Given the description of an element on the screen output the (x, y) to click on. 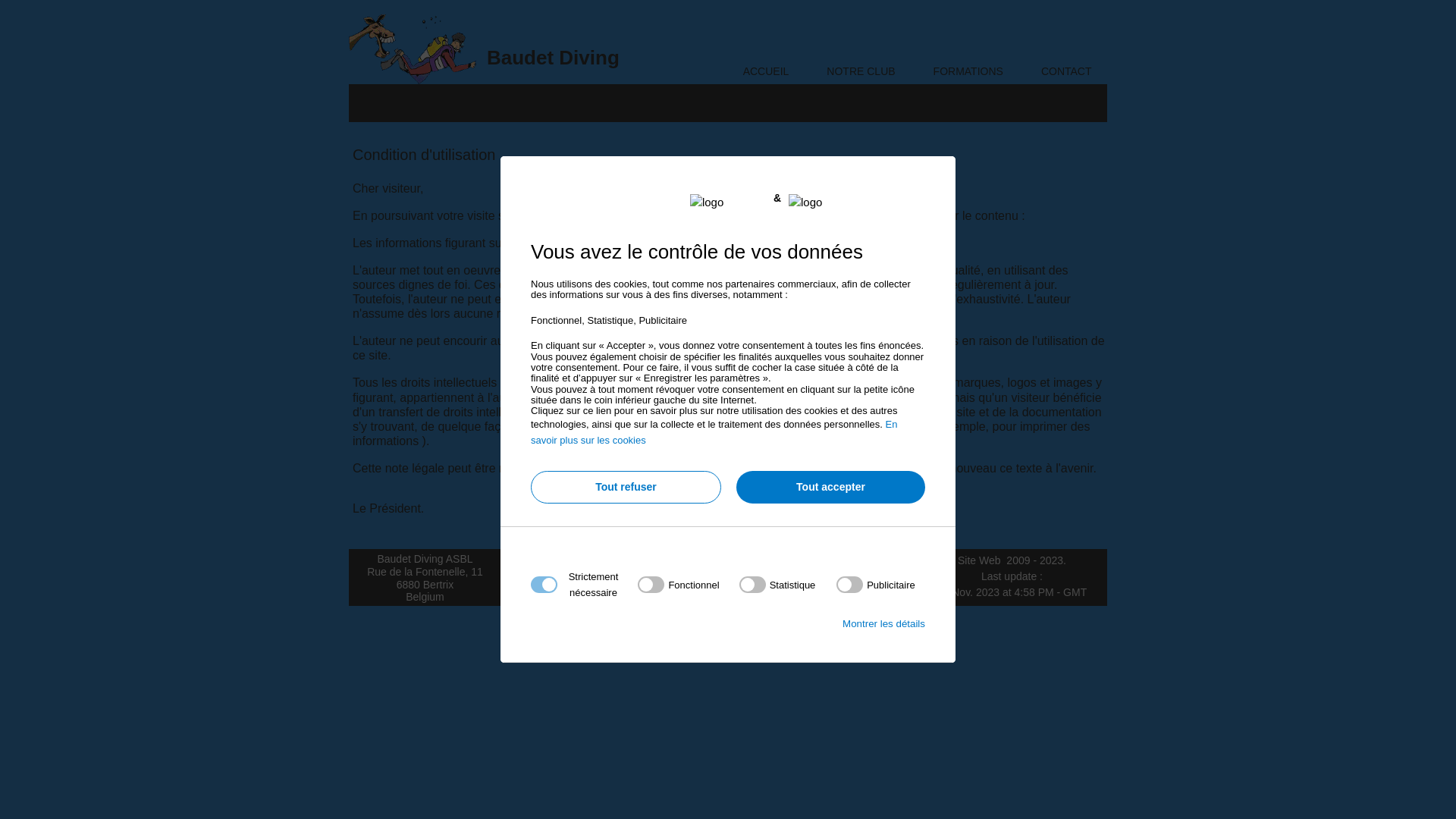
Fonctionnel Element type: text (723, 767)
En savoir plus sur les cookies Element type: text (713, 431)
on Element type: text (677, 584)
CONTACT Element type: text (1066, 68)
FORMATIONS Element type: text (968, 68)
ACCUEIL Element type: text (766, 68)
Liens utiles Element type: text (738, 592)
on Element type: text (777, 584)
Tout refuser Element type: text (625, 486)
Tout accepter Element type: text (830, 486)
NOTRE CLUB Element type: text (861, 68)
on Element type: text (875, 584)
info@baudetdiving.be Element type: text (582, 558)
